Given the description of an element on the screen output the (x, y) to click on. 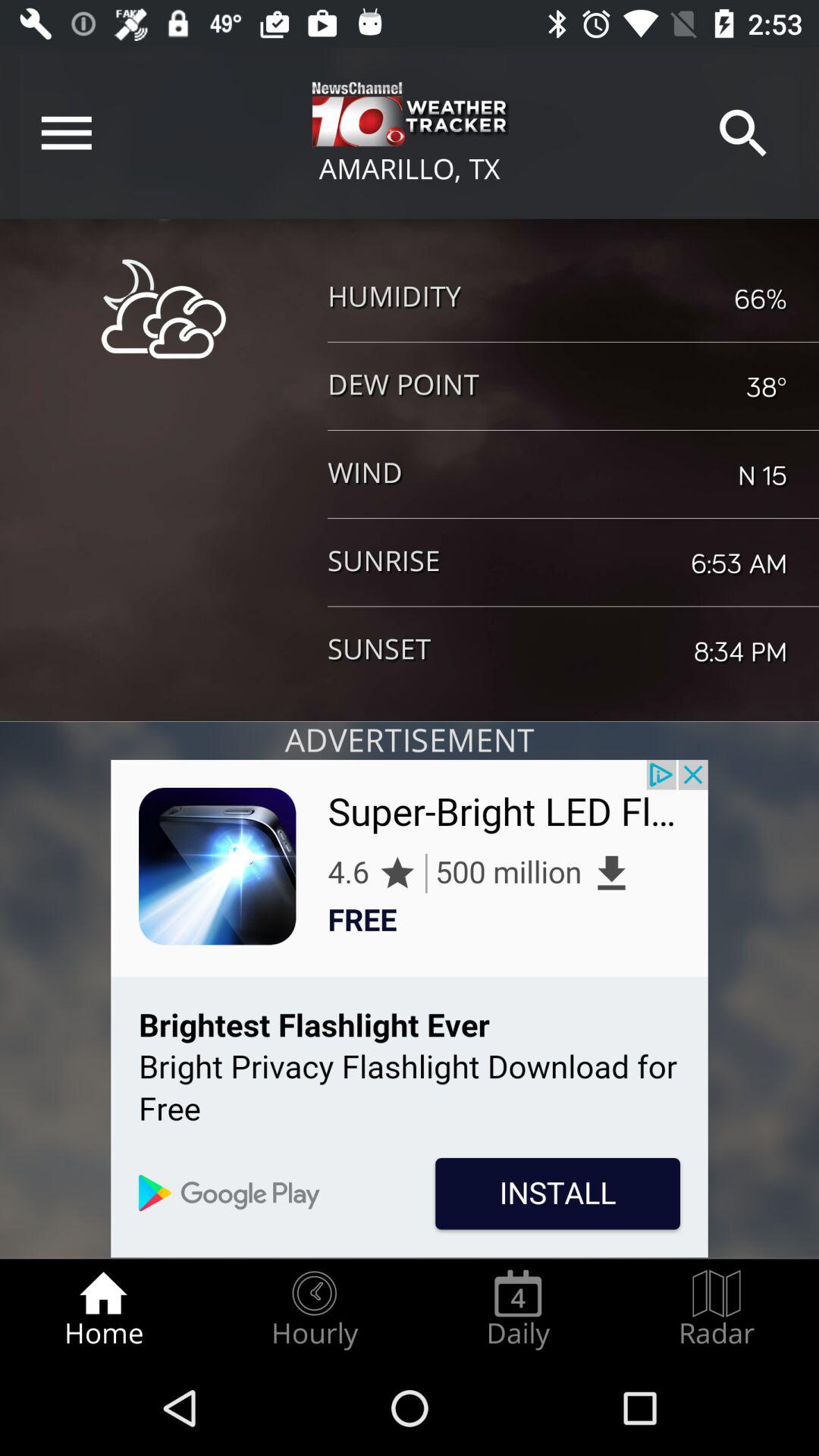
turn on the icon next to the hourly radio button (103, 1309)
